Given the description of an element on the screen output the (x, y) to click on. 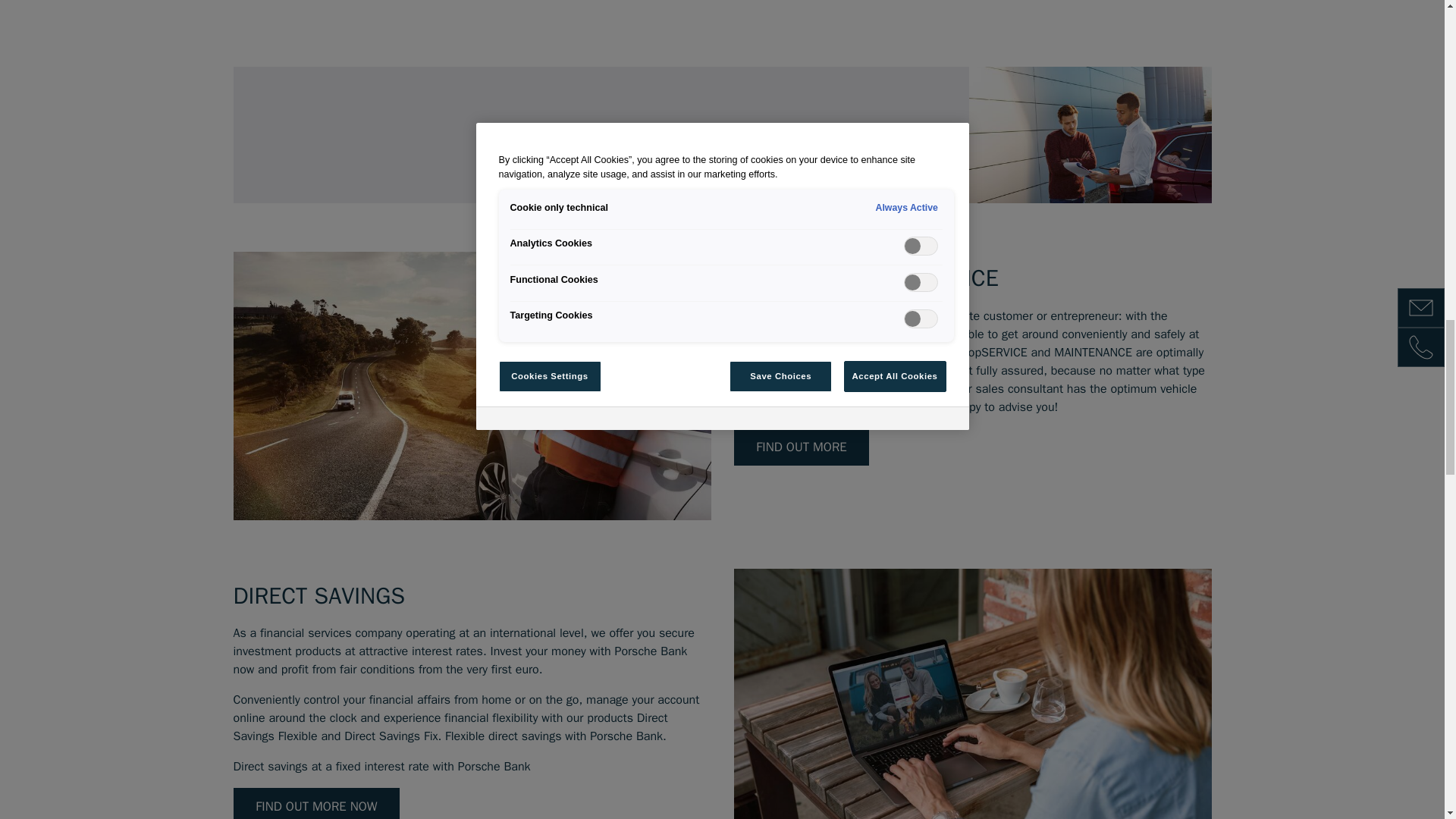
FIND OUT MORE (801, 447)
181019 VSW MKP 1114 R Zs RGB (1090, 134)
Porsche Bank Direktsparen Login (972, 693)
FIND OUT MORE NOW (316, 803)
